Given the description of an element on the screen output the (x, y) to click on. 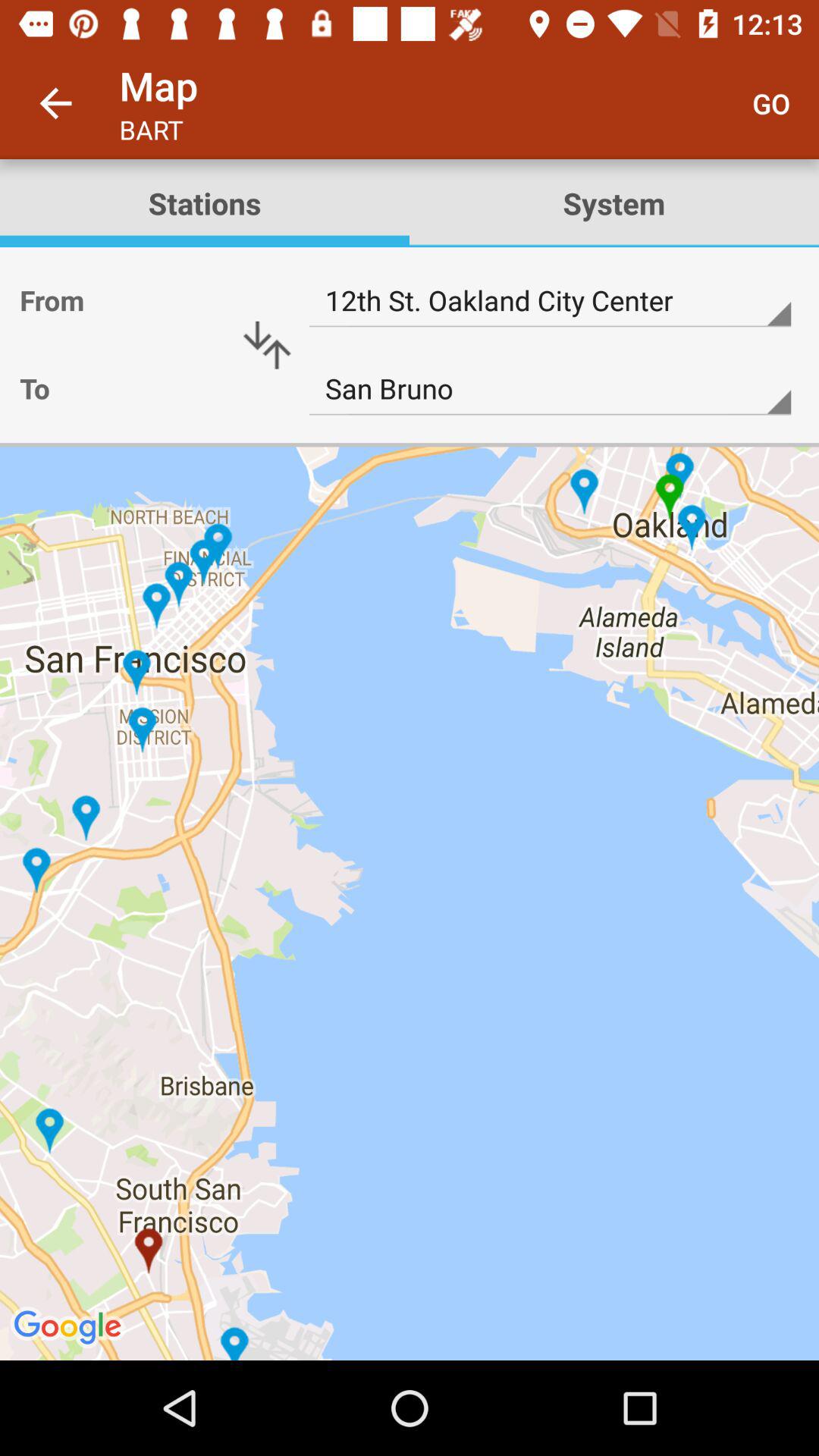
click item below go icon (614, 203)
